Given the description of an element on the screen output the (x, y) to click on. 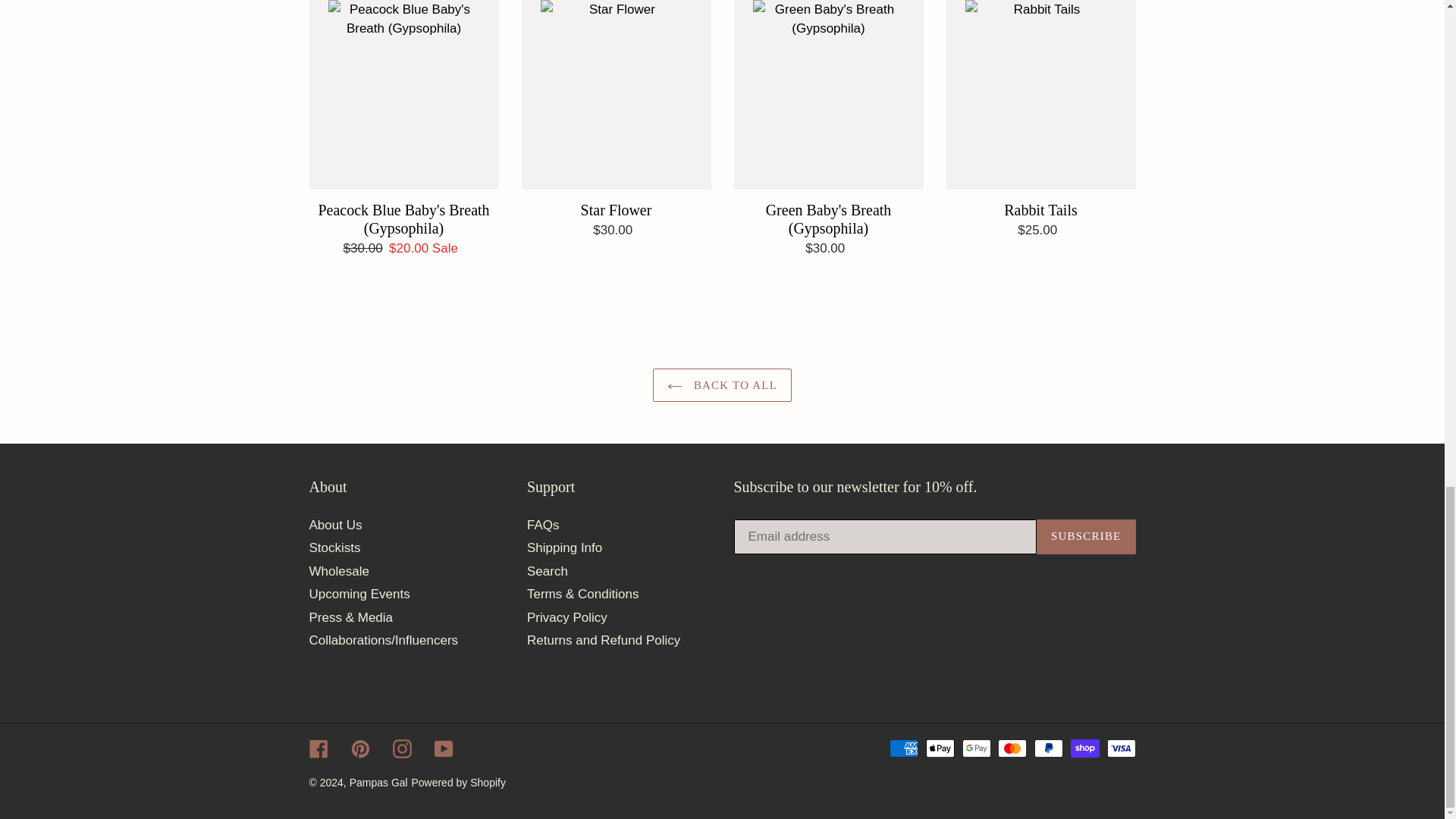
Google Pay (976, 748)
American Express (903, 748)
Mastercard (1011, 748)
Shop Pay (1084, 748)
PayPal (1047, 748)
Apple Pay (940, 748)
